Given the description of an element on the screen output the (x, y) to click on. 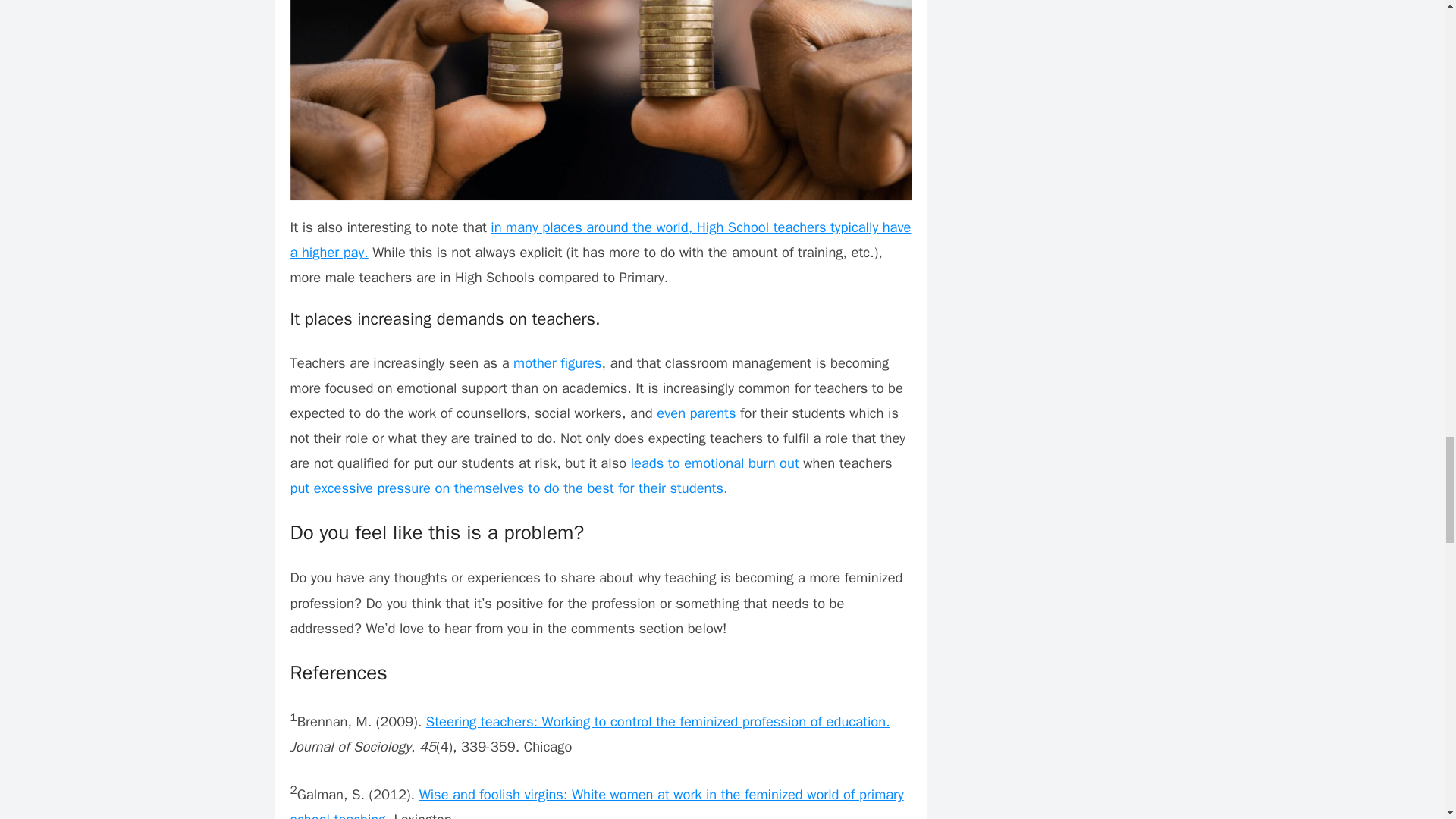
even parents (695, 412)
leads to emotional burn out (714, 462)
mother figures (557, 362)
